Given the description of an element on the screen output the (x, y) to click on. 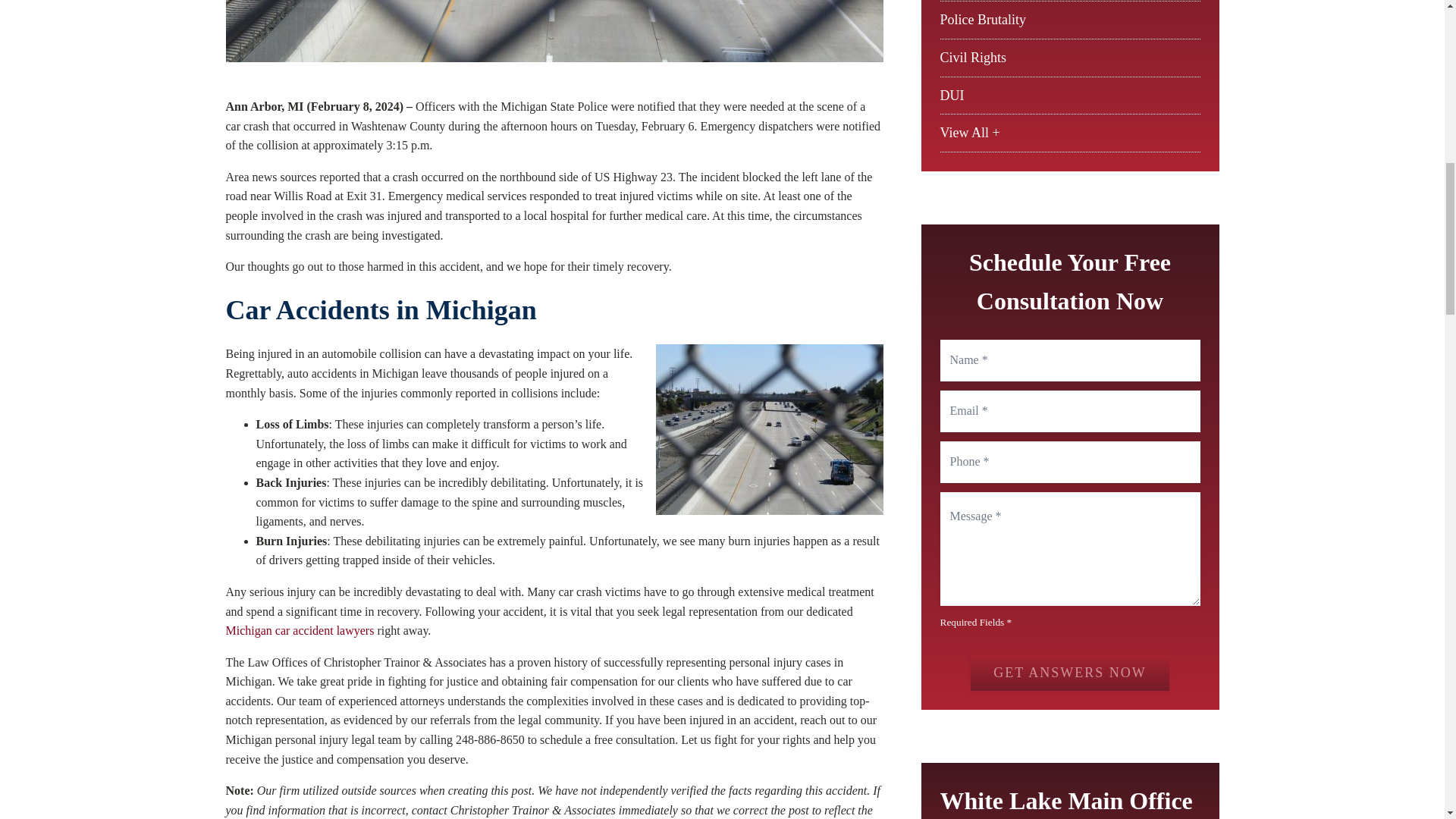
DUI (951, 95)
Civil Rights (973, 57)
Get Answers Now (1070, 672)
Get Answers Now (1070, 672)
Michigan car accident lawyers (299, 630)
Police Brutality (983, 19)
